Given the description of an element on the screen output the (x, y) to click on. 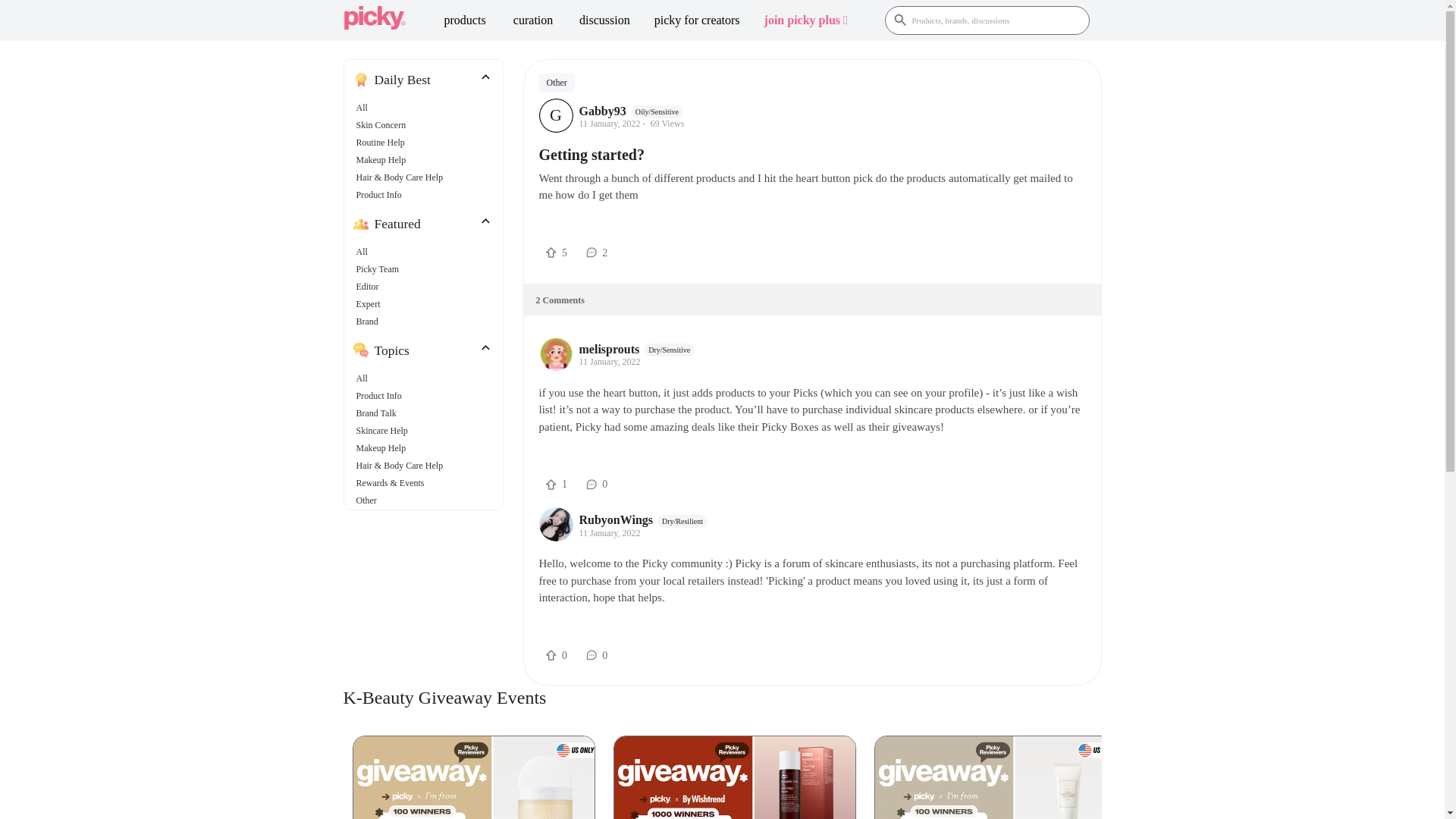
Editor (374, 286)
curation (533, 20)
Skin Concern (381, 125)
All (374, 378)
Brand (374, 321)
Expert (374, 303)
All (426, 108)
Makeup Help (426, 159)
Skincare Help (381, 430)
All (374, 108)
Routine Help (426, 142)
Makeup Help (381, 159)
Editor (426, 286)
Product Info (426, 194)
Product Info (378, 194)
